Given the description of an element on the screen output the (x, y) to click on. 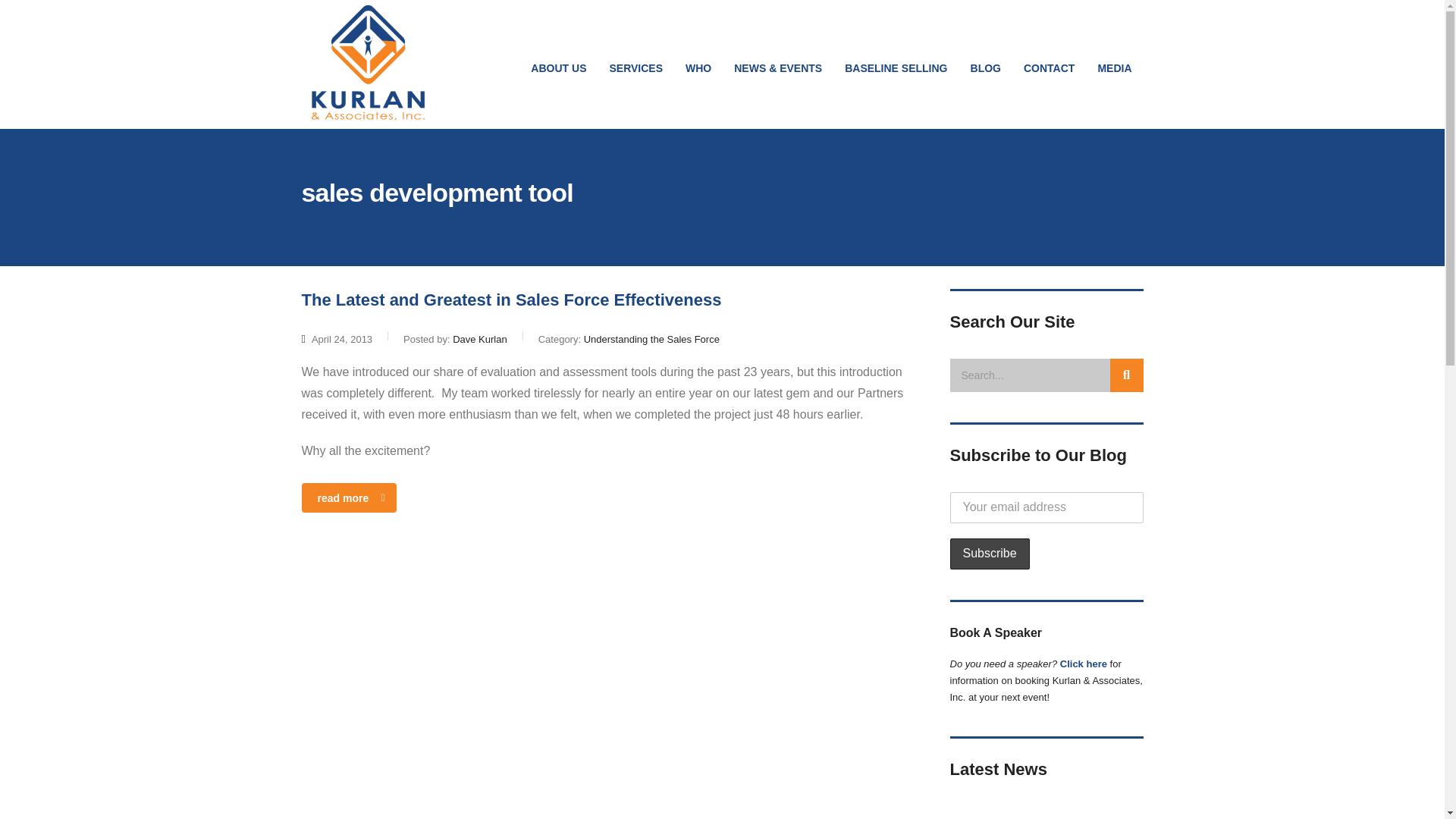
ABOUT US (557, 68)
SERVICES (635, 68)
WHO (698, 68)
Subscribe (989, 553)
